Given the description of an element on the screen output the (x, y) to click on. 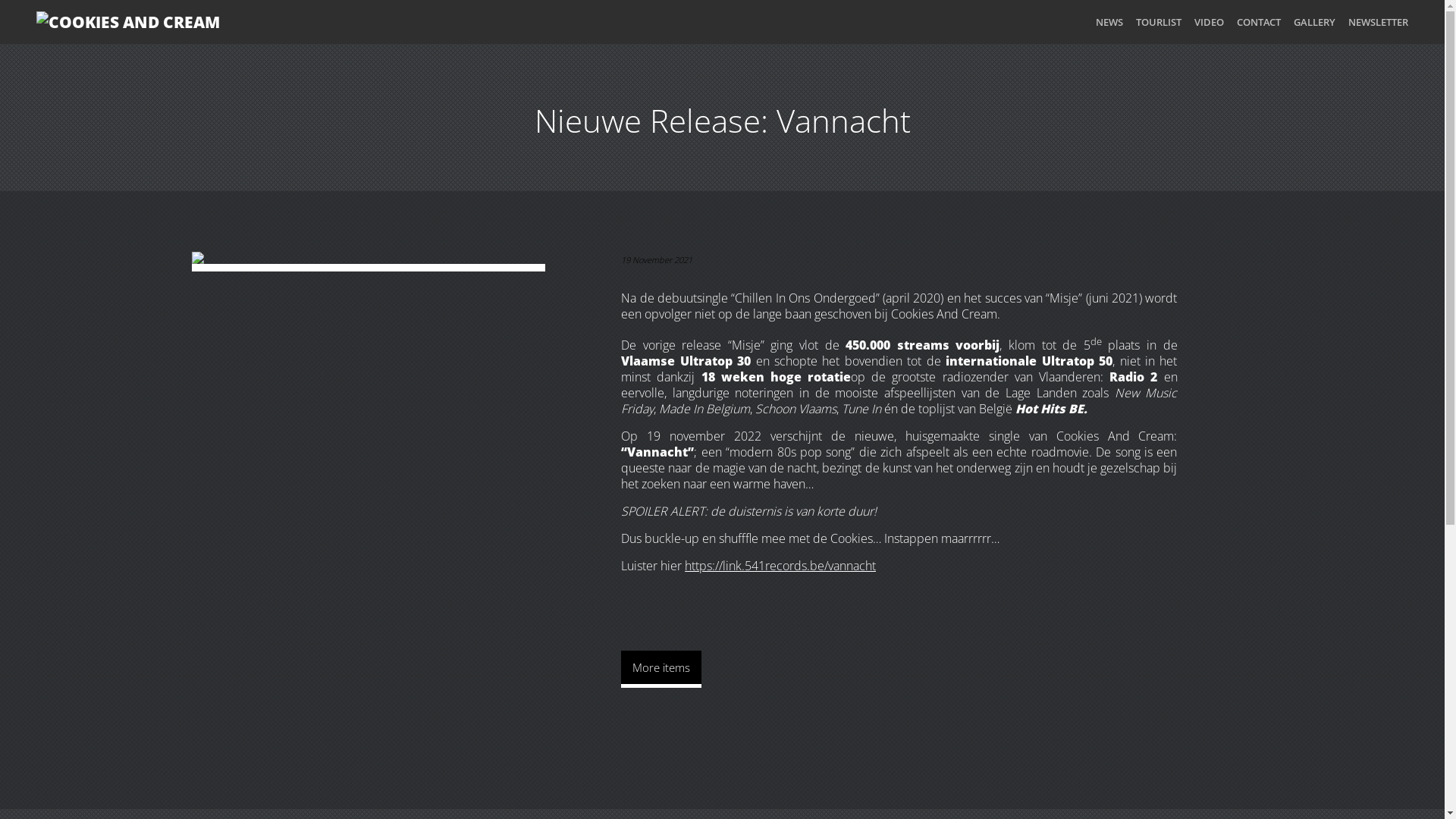
More items Element type: text (661, 668)
https://link.541records.be/vannacht Element type: text (779, 566)
Cookies And Cream Element type: hover (179, 21)
NEWSLETTER Element type: text (1378, 21)
CONTACT Element type: text (1258, 21)
VIDEO Element type: text (1208, 21)
TOURLIST Element type: text (1158, 21)
GALLERY Element type: text (1314, 21)
NEWS Element type: text (1109, 21)
